Given the description of an element on the screen output the (x, y) to click on. 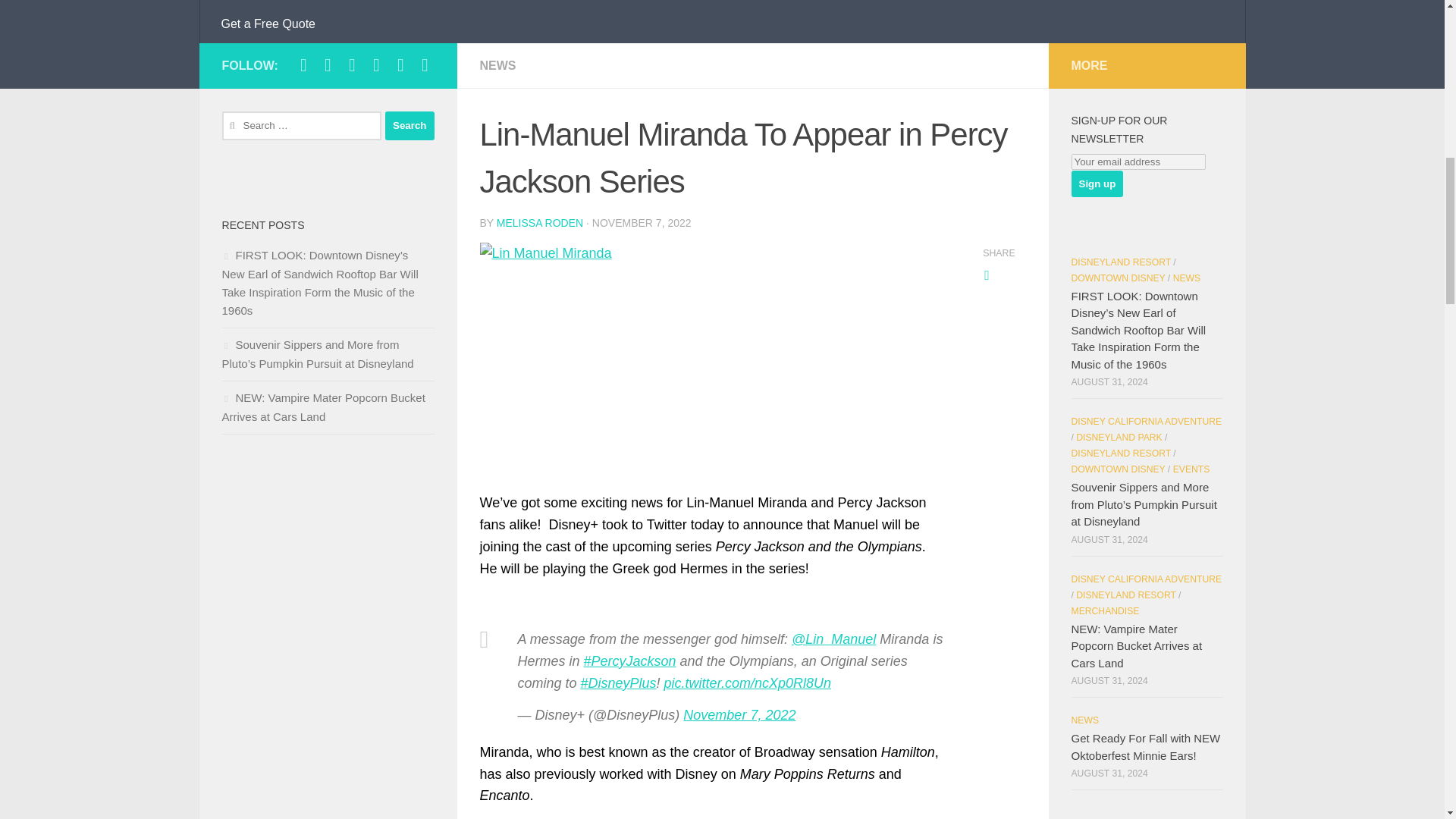
Lin-Manuel Miranda To Appear in Percy Jackson Series (714, 353)
Search (409, 125)
Follow us on Instagram (327, 65)
Walt Disney World (328, 2)
Search (409, 125)
Posts by Melissa Roden (539, 223)
Sign up (1096, 183)
Follow us on Tiktok (375, 65)
Follow us on Facebook (303, 65)
Follow us on Twitter (351, 65)
